Given the description of an element on the screen output the (x, y) to click on. 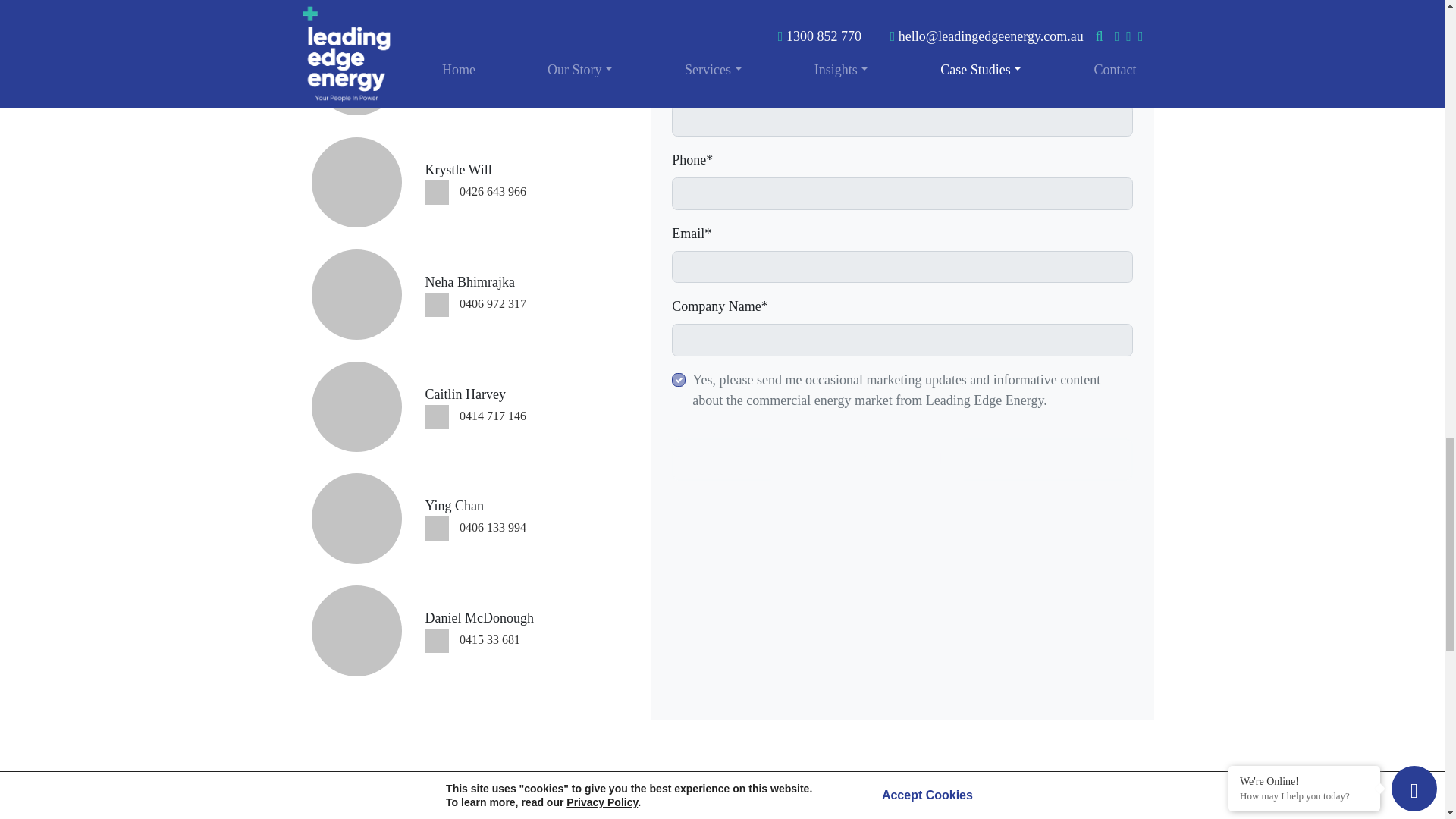
0412 676 114 (492, 78)
